Given the description of an element on the screen output the (x, y) to click on. 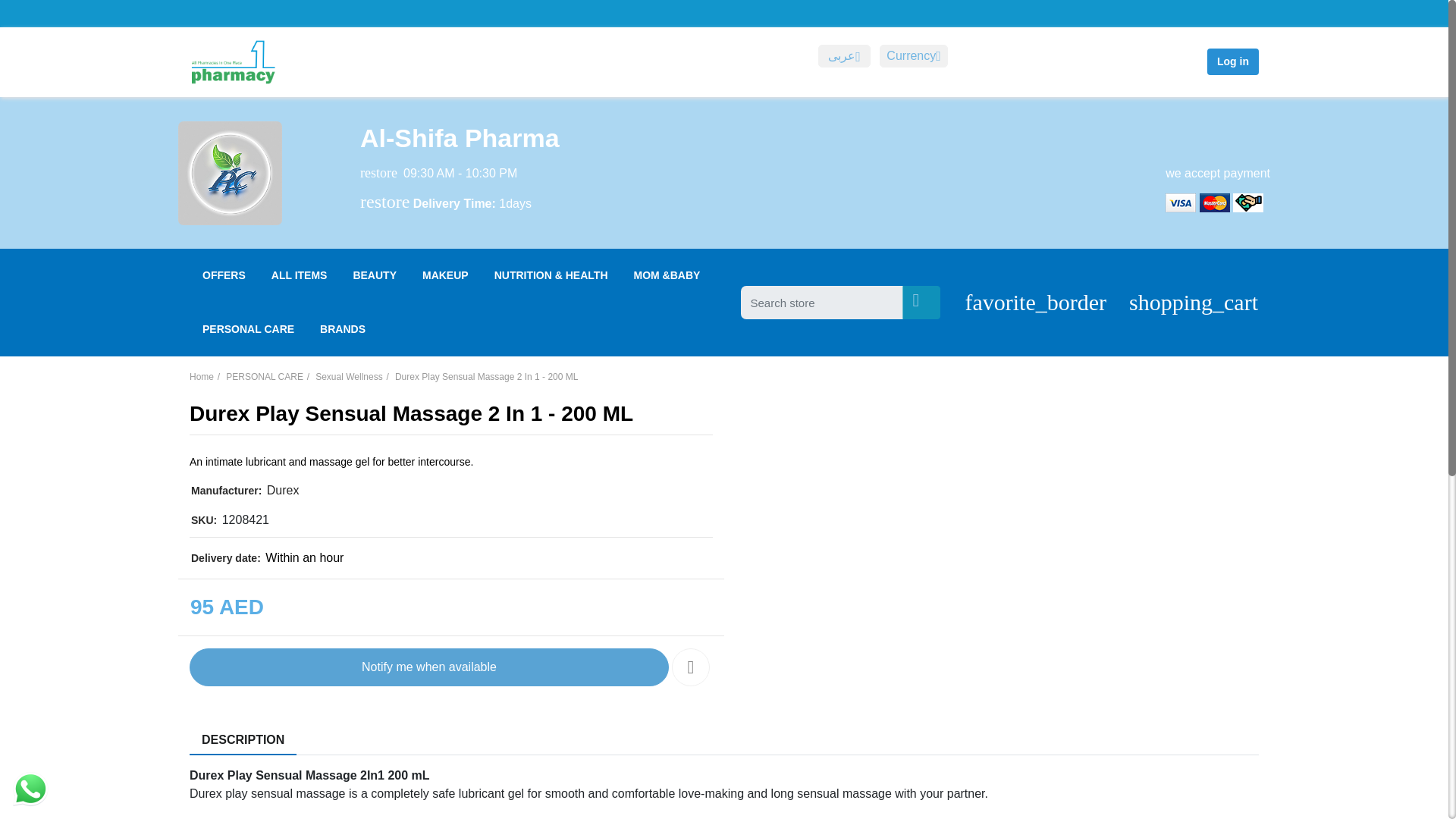
Add to wishlist (690, 667)
Notify me when available (913, 56)
